Given the description of an element on the screen output the (x, y) to click on. 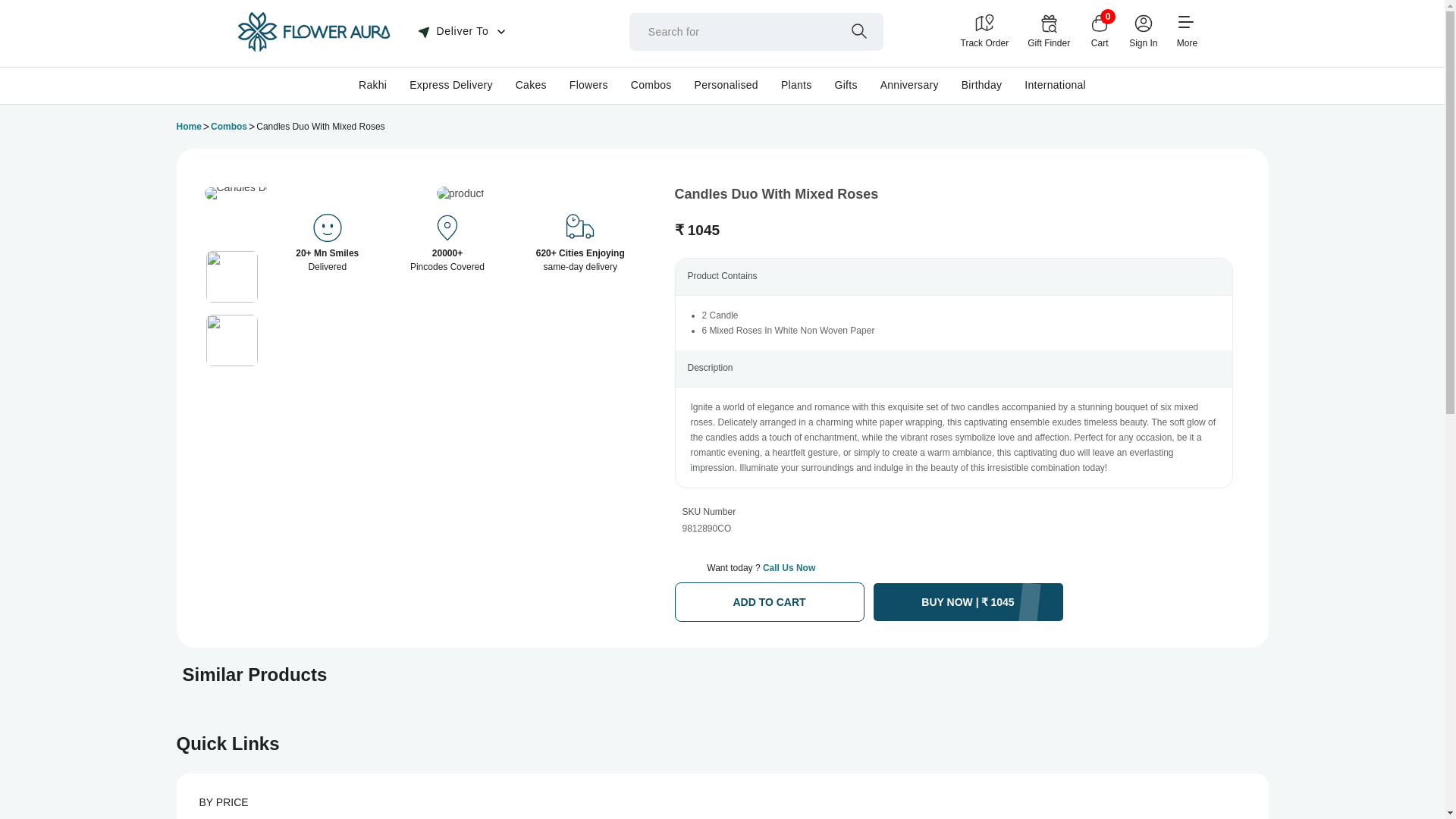
Home (312, 48)
Track Order (984, 31)
Combos (229, 127)
Delivered (447, 229)
Rakhi (372, 84)
Track Order (984, 31)
Candles Duo With Mixed Roses (280, 193)
Home (188, 127)
Delivered (327, 229)
